Given the description of an element on the screen output the (x, y) to click on. 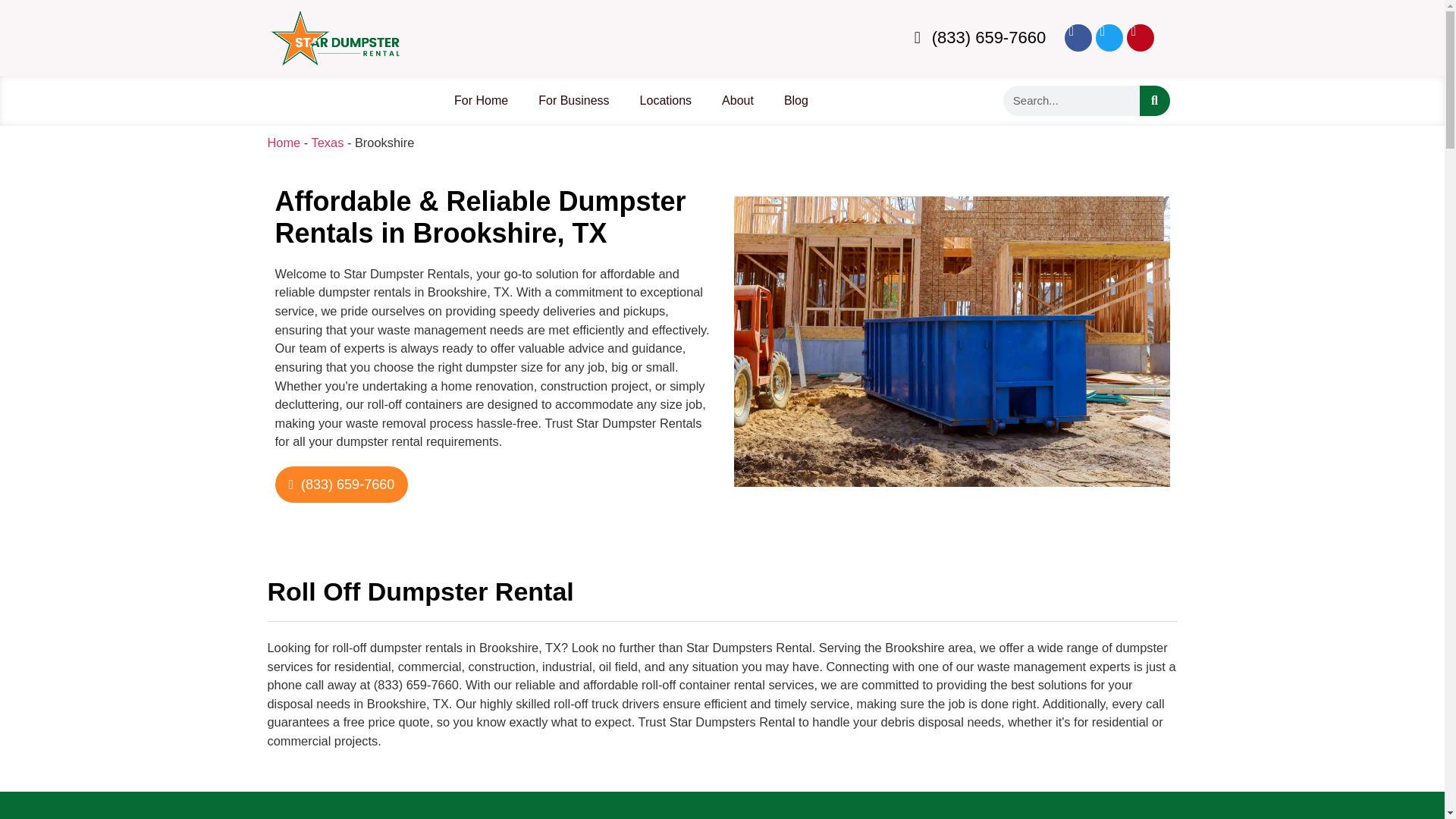
Blog (796, 100)
Home (282, 142)
Texas (327, 142)
About (737, 100)
For Business (573, 100)
Locations (665, 100)
For Home (480, 100)
